Given the description of an element on the screen output the (x, y) to click on. 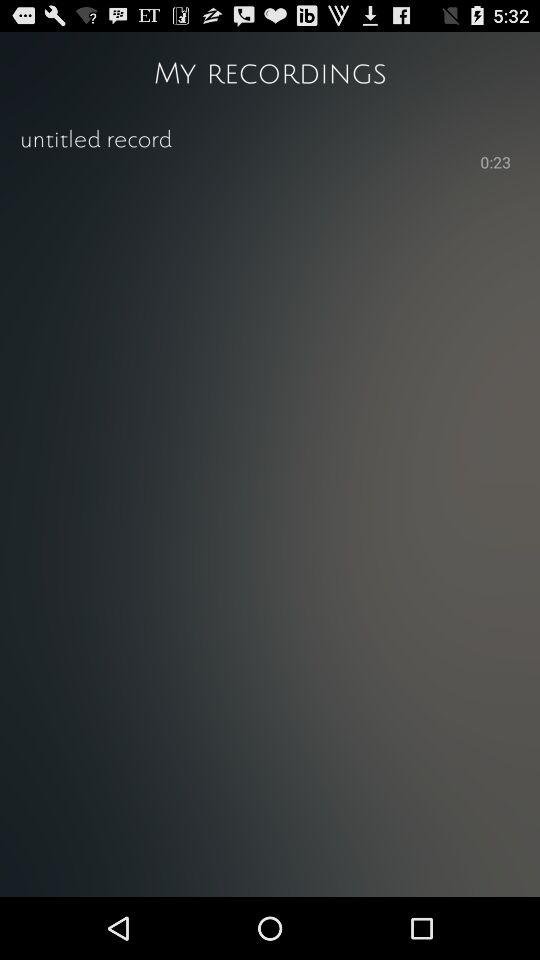
launch the item next to 0:23 item (248, 161)
